Given the description of an element on the screen output the (x, y) to click on. 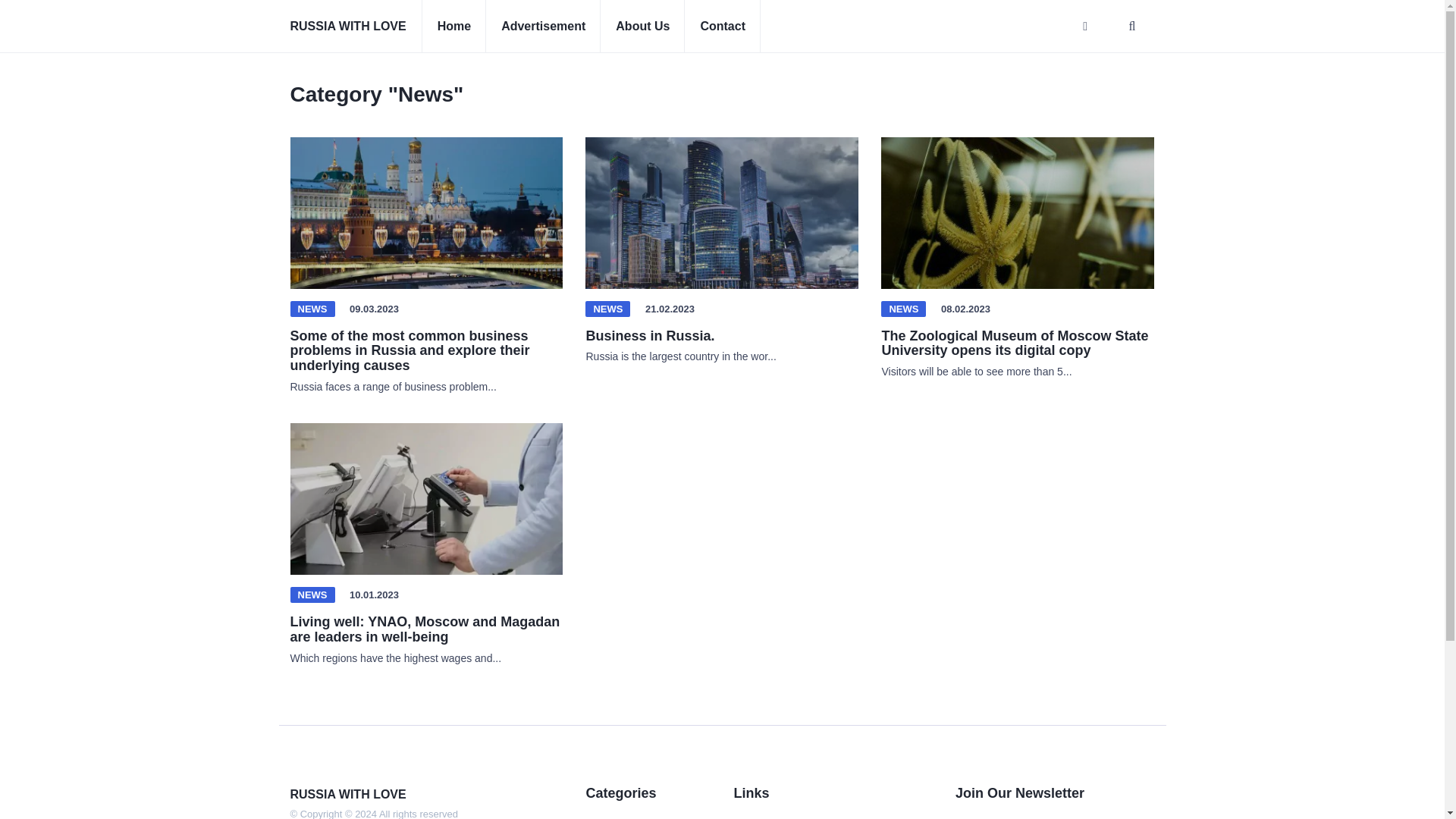
About Us (641, 26)
RUSSIA WITH LOVE (347, 26)
Contact (722, 26)
Business in Russia. (649, 335)
NEWS (311, 594)
NEWS (311, 308)
NEWS (903, 308)
Home (454, 26)
Advertisement (542, 26)
RUSSIA WITH LOVE (347, 793)
NEWS (607, 308)
